Given the description of an element on the screen output the (x, y) to click on. 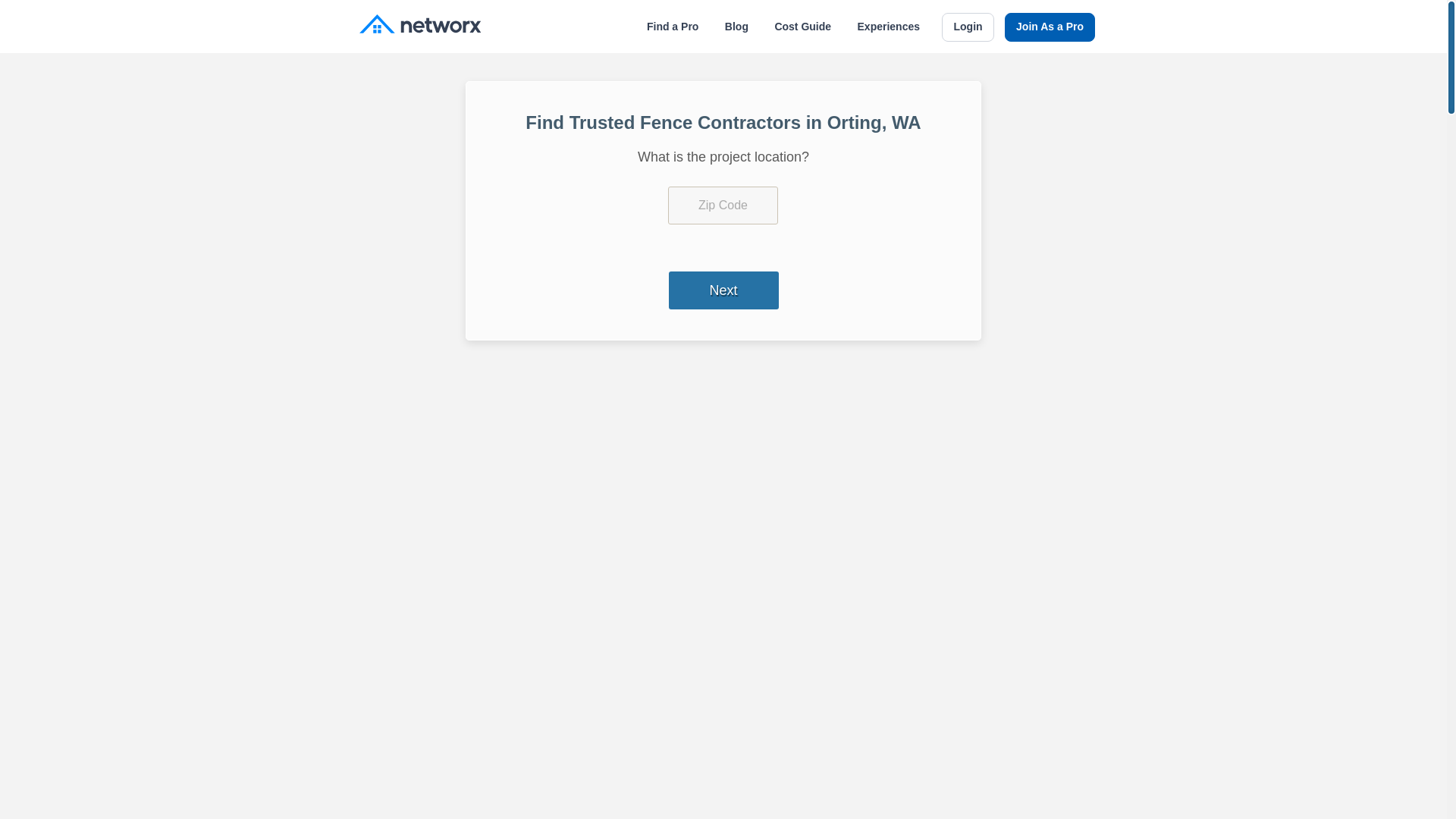
Join As a Pro (1049, 27)
Cost Guide (802, 26)
Next (723, 290)
Networx (419, 25)
Find a Pro (672, 26)
Login (967, 27)
Please enter a valid zip code (722, 205)
Experiences (888, 26)
